Given the description of an element on the screen output the (x, y) to click on. 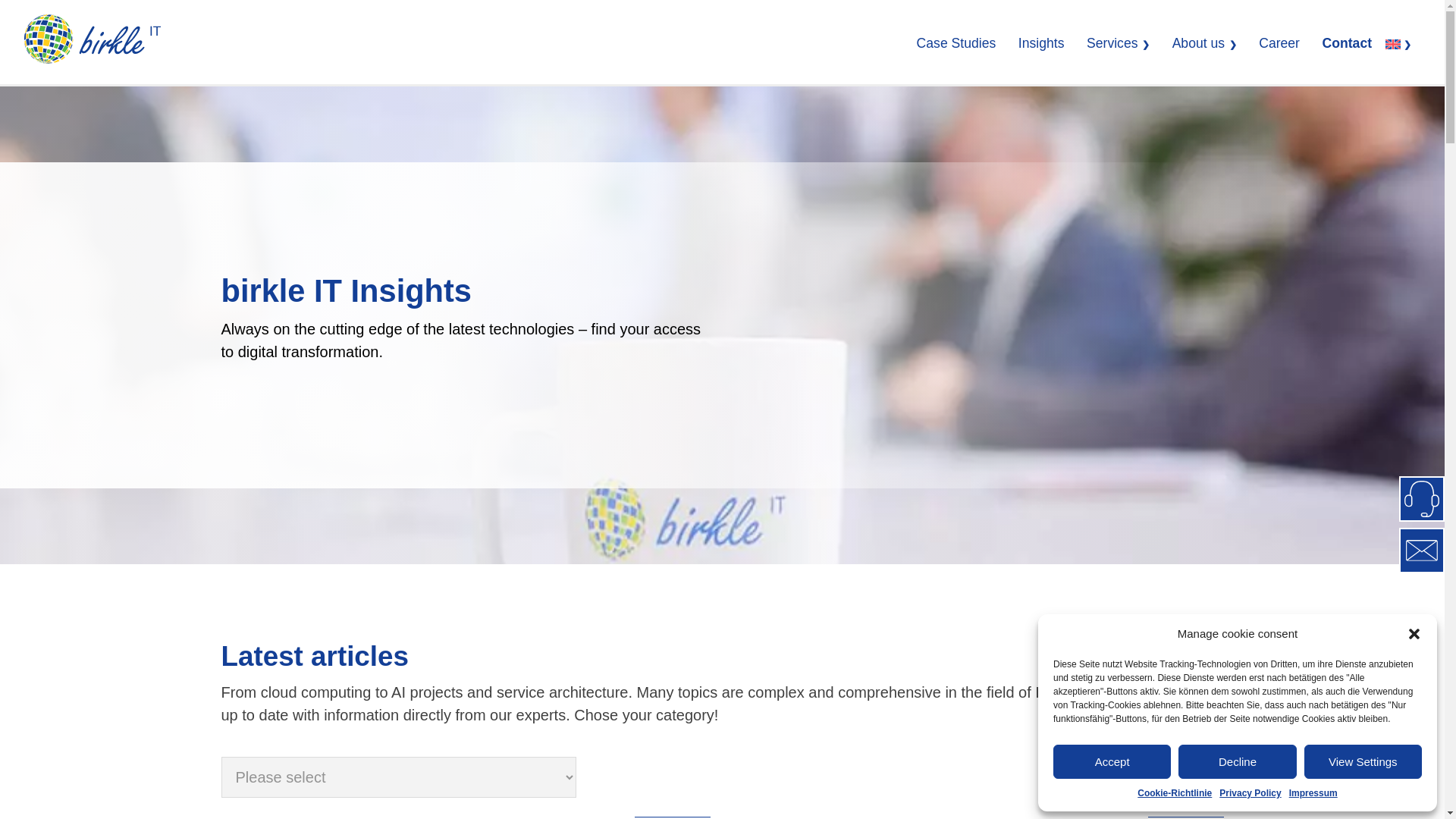
Impressum (1313, 793)
Cookie-Richtlinie (1174, 793)
Contact (1347, 42)
Career (1279, 42)
Services (1111, 42)
Insights (1040, 42)
View Settings (1363, 761)
About us (1198, 42)
Privacy Policy (1250, 793)
Case Studies (956, 42)
Accept (1111, 761)
Decline (1236, 761)
